Given the description of an element on the screen output the (x, y) to click on. 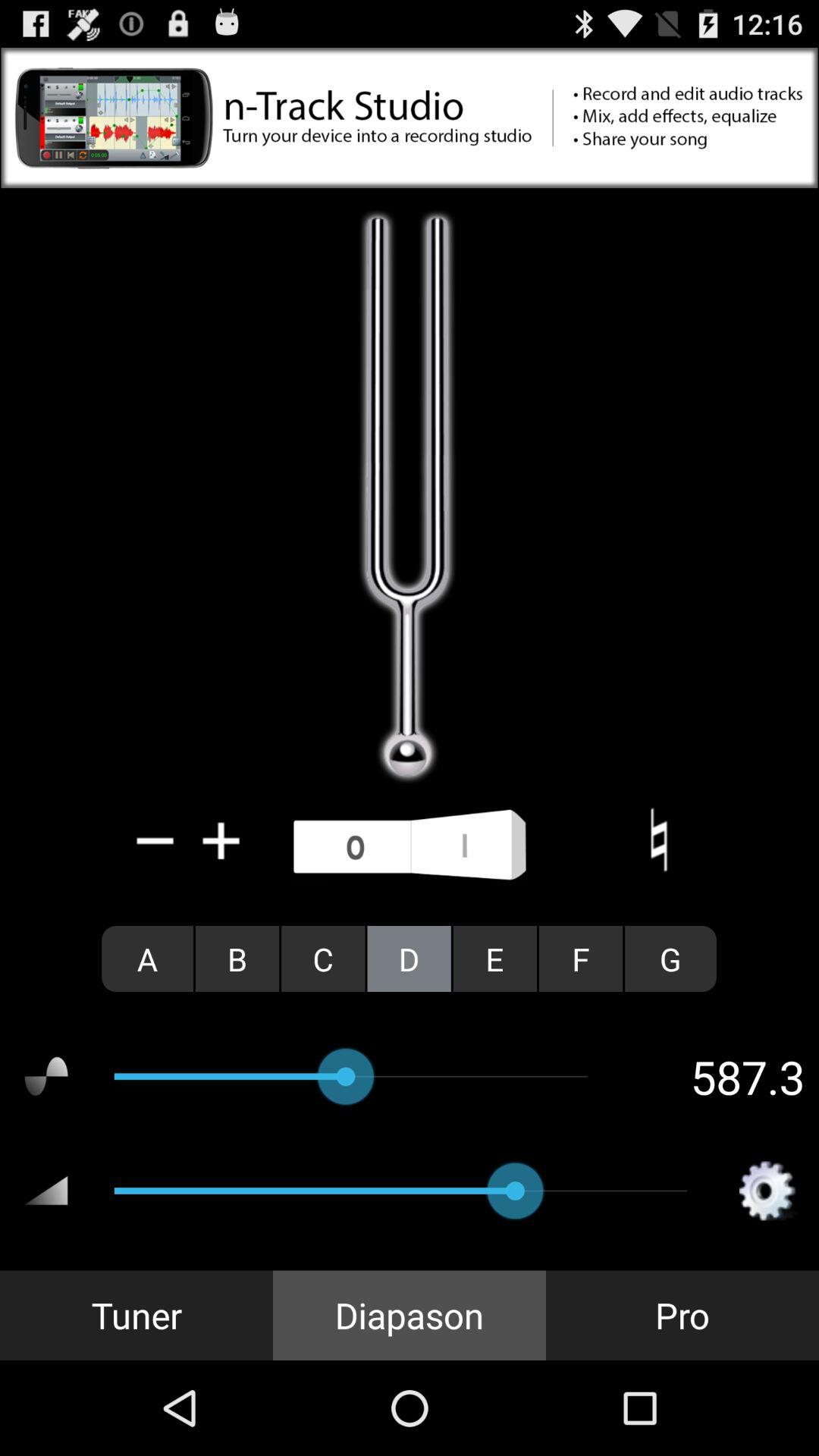
minus button (155, 840)
